Given the description of an element on the screen output the (x, y) to click on. 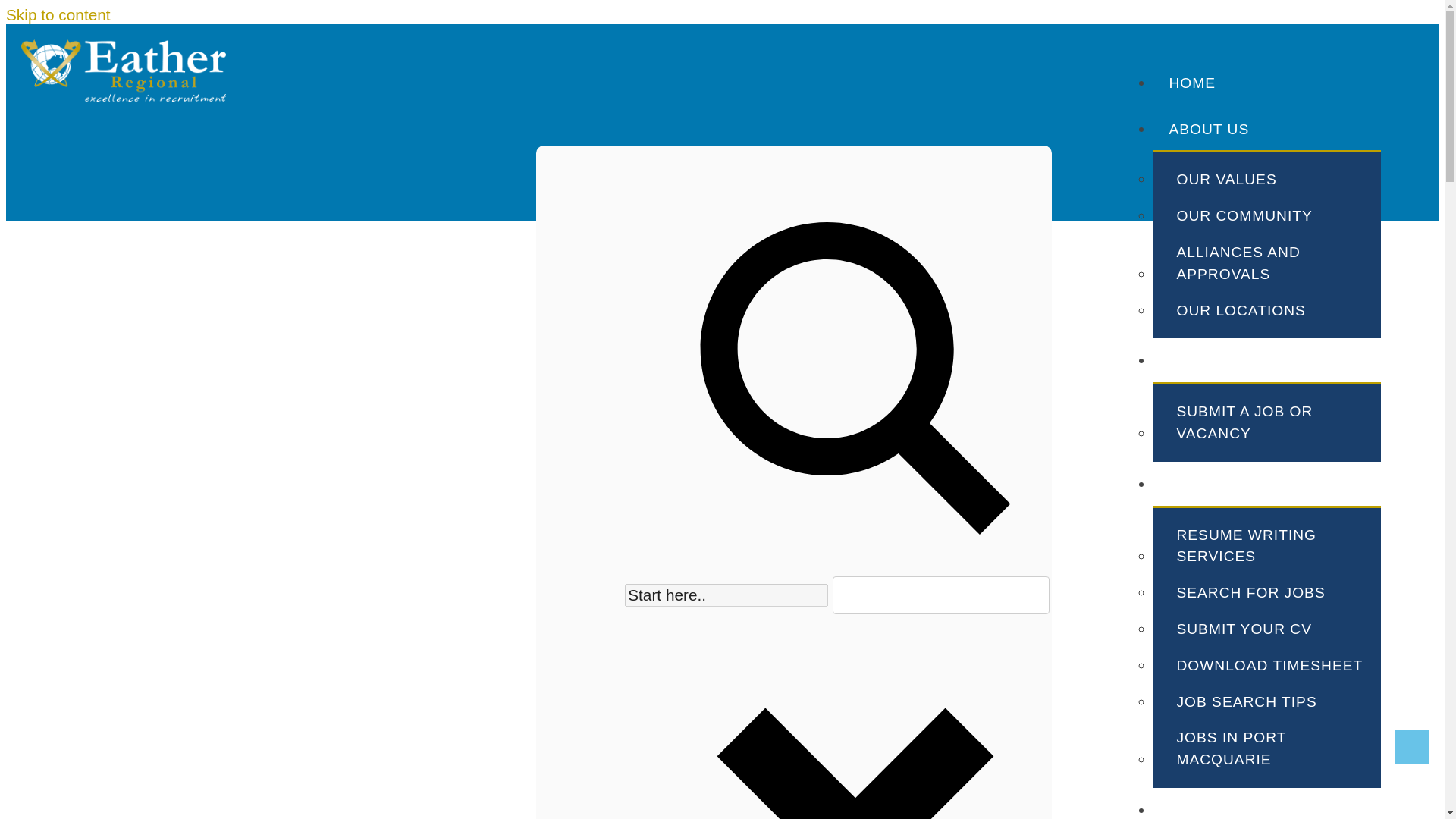
SUBMIT A JOB OR VACANCY (1279, 421)
JOBS IN PORT MACQUARIE (1279, 747)
EMPLOYERS (1217, 361)
Start search (1003, 630)
OUR VALUES (1279, 177)
ALLIANCES AND APPROVALS (1279, 261)
JOB SEARCH TIPS (1279, 700)
SEARCH FOR JOBS (1279, 591)
HOME (1192, 83)
JOBSEEKERS (1220, 484)
